Given the description of an element on the screen output the (x, y) to click on. 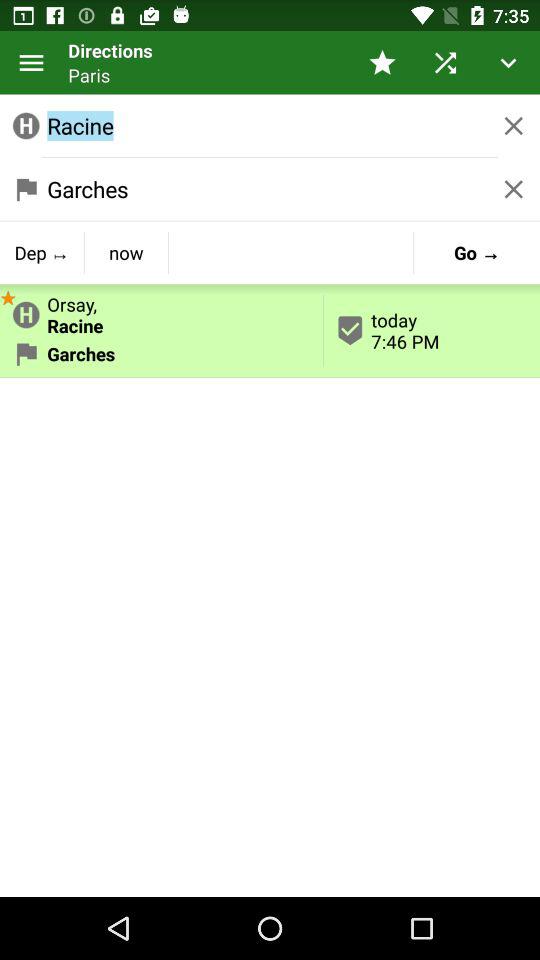
launch icon to the left of the directions app (31, 62)
